Given the description of an element on the screen output the (x, y) to click on. 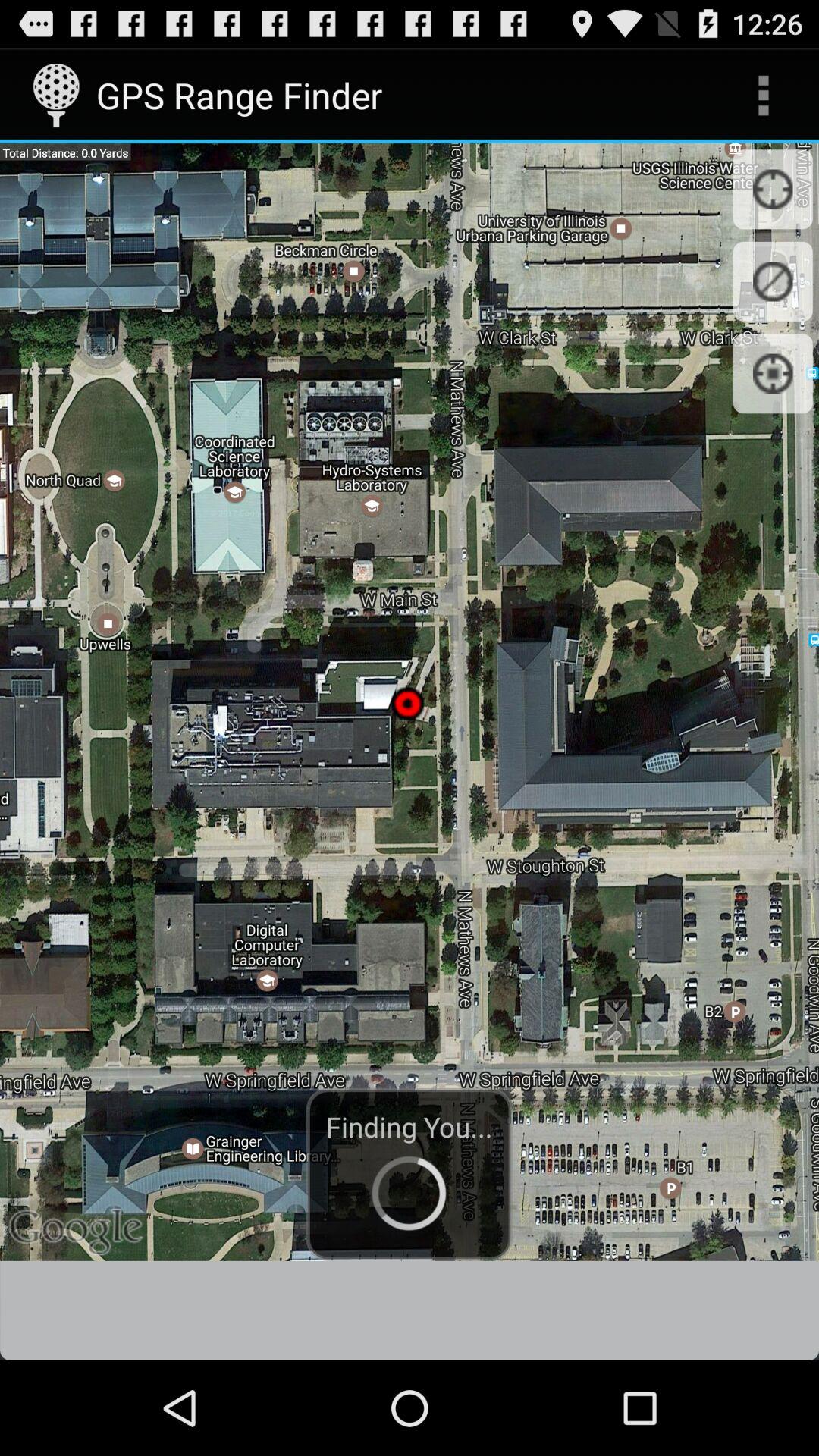
turn on icon to the right of the gps range finder (763, 95)
